Given the description of an element on the screen output the (x, y) to click on. 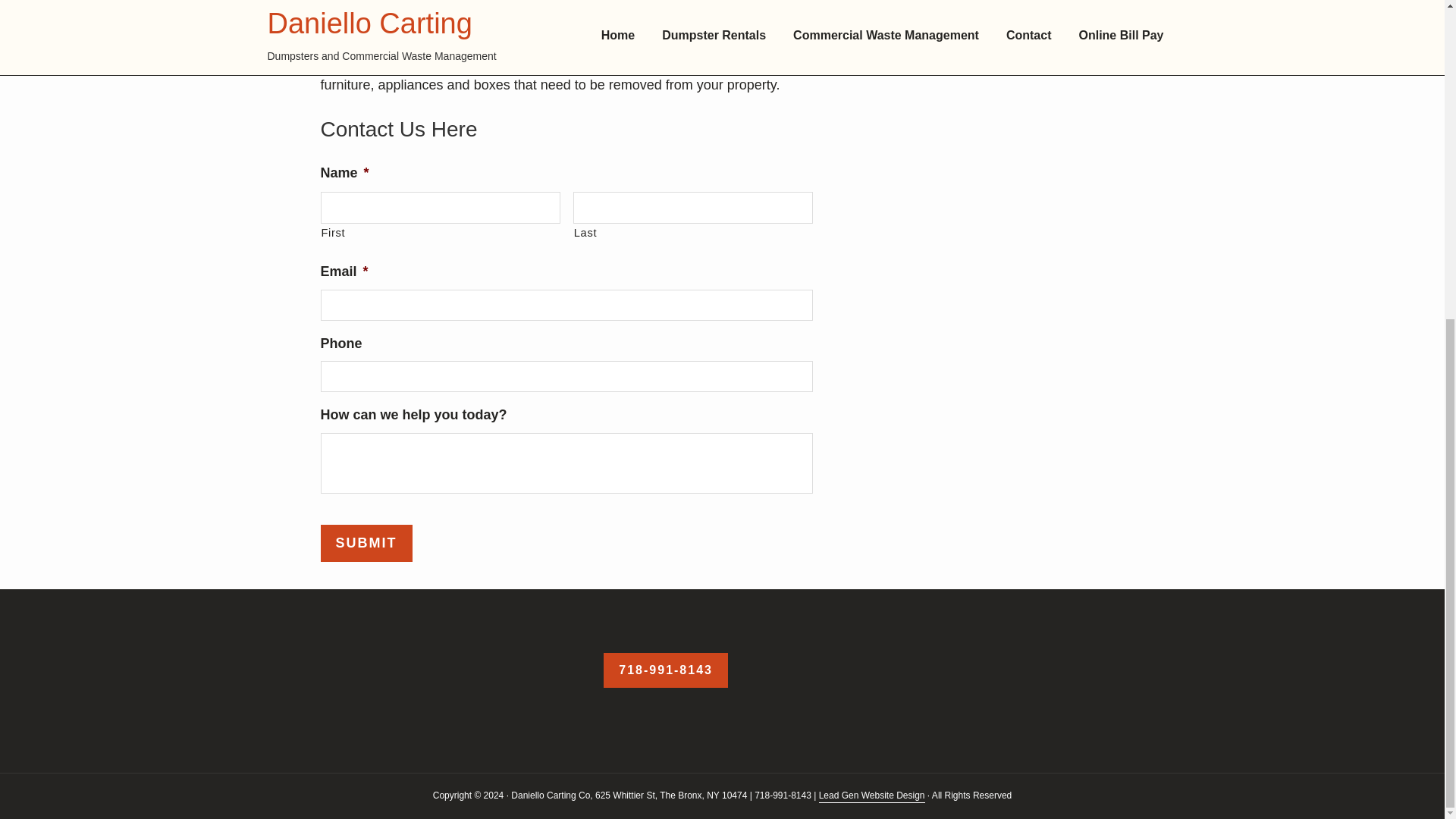
718-991-8143 (666, 669)
Submit (366, 542)
Submit (919, 34)
Submit (366, 542)
Lead Gen Website Design (871, 796)
Submit (919, 34)
